Given the description of an element on the screen output the (x, y) to click on. 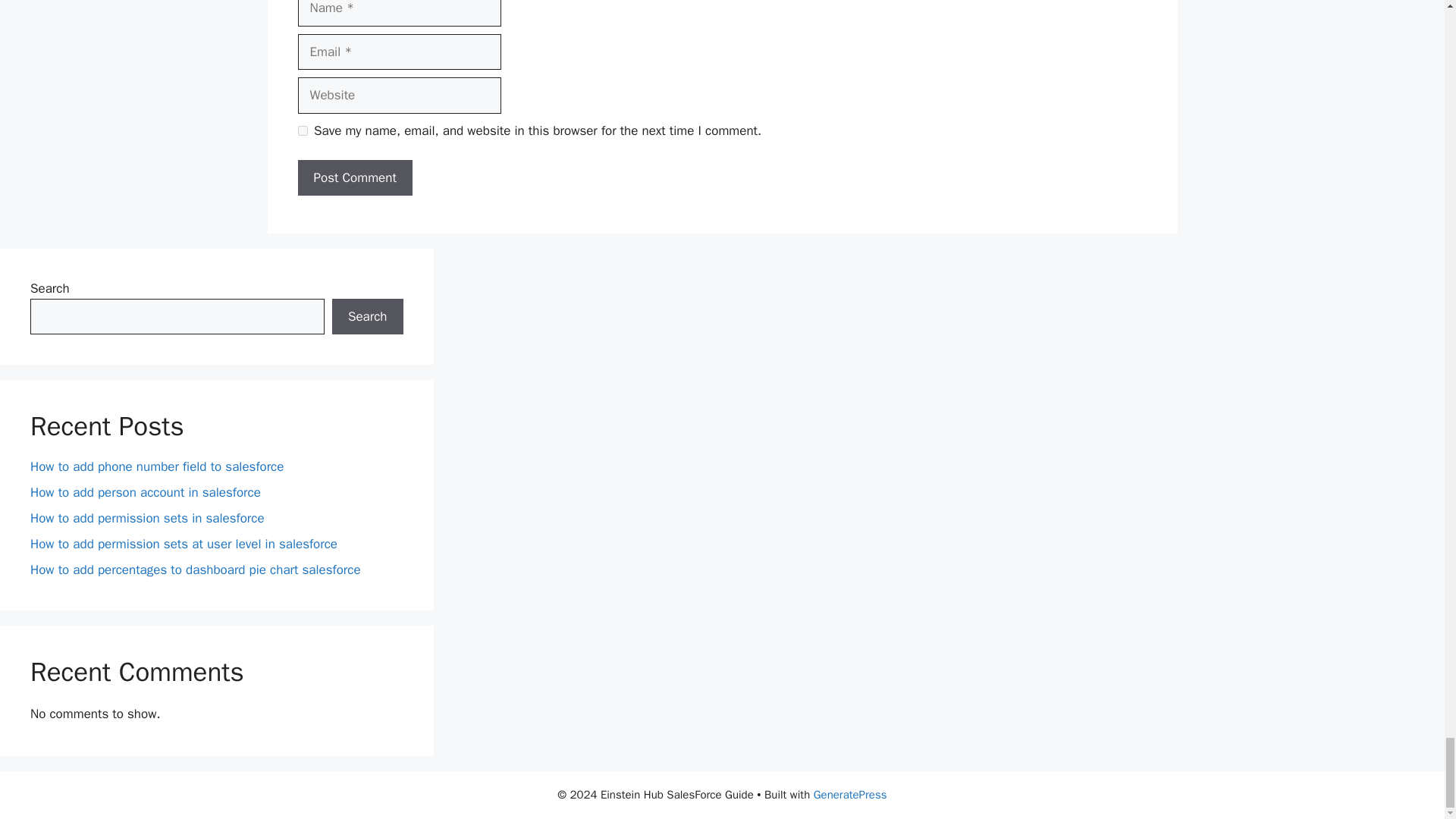
Post Comment (354, 177)
yes (302, 130)
